Given the description of an element on the screen output the (x, y) to click on. 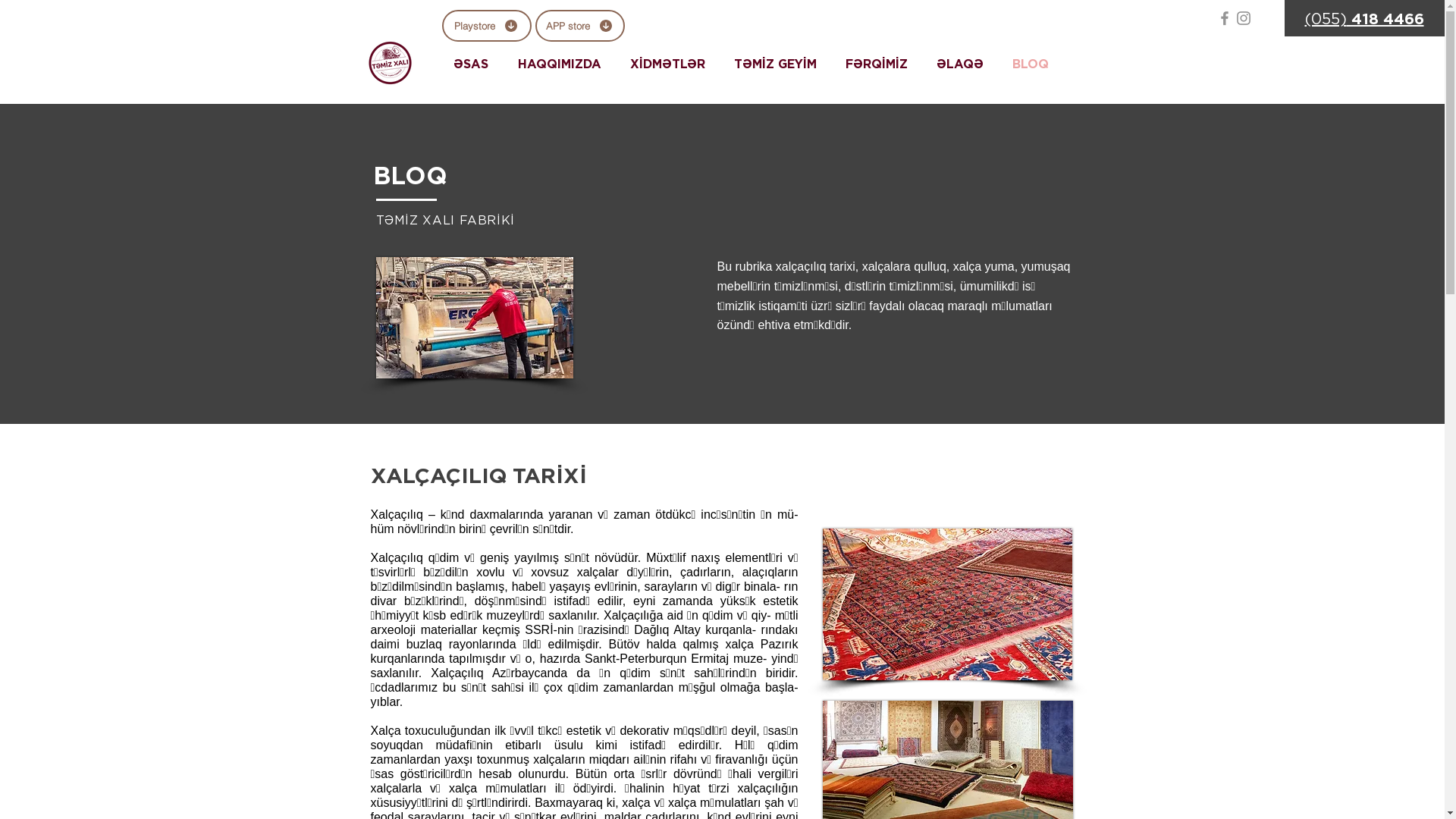
Playstore Element type: text (485, 25)
(055) 418 4466 Element type: text (1363, 18)
HAQQIMIZDA Element type: text (562, 64)
APP store Element type: text (579, 25)
BLOQ Element type: text (1033, 64)
